Given the description of an element on the screen output the (x, y) to click on. 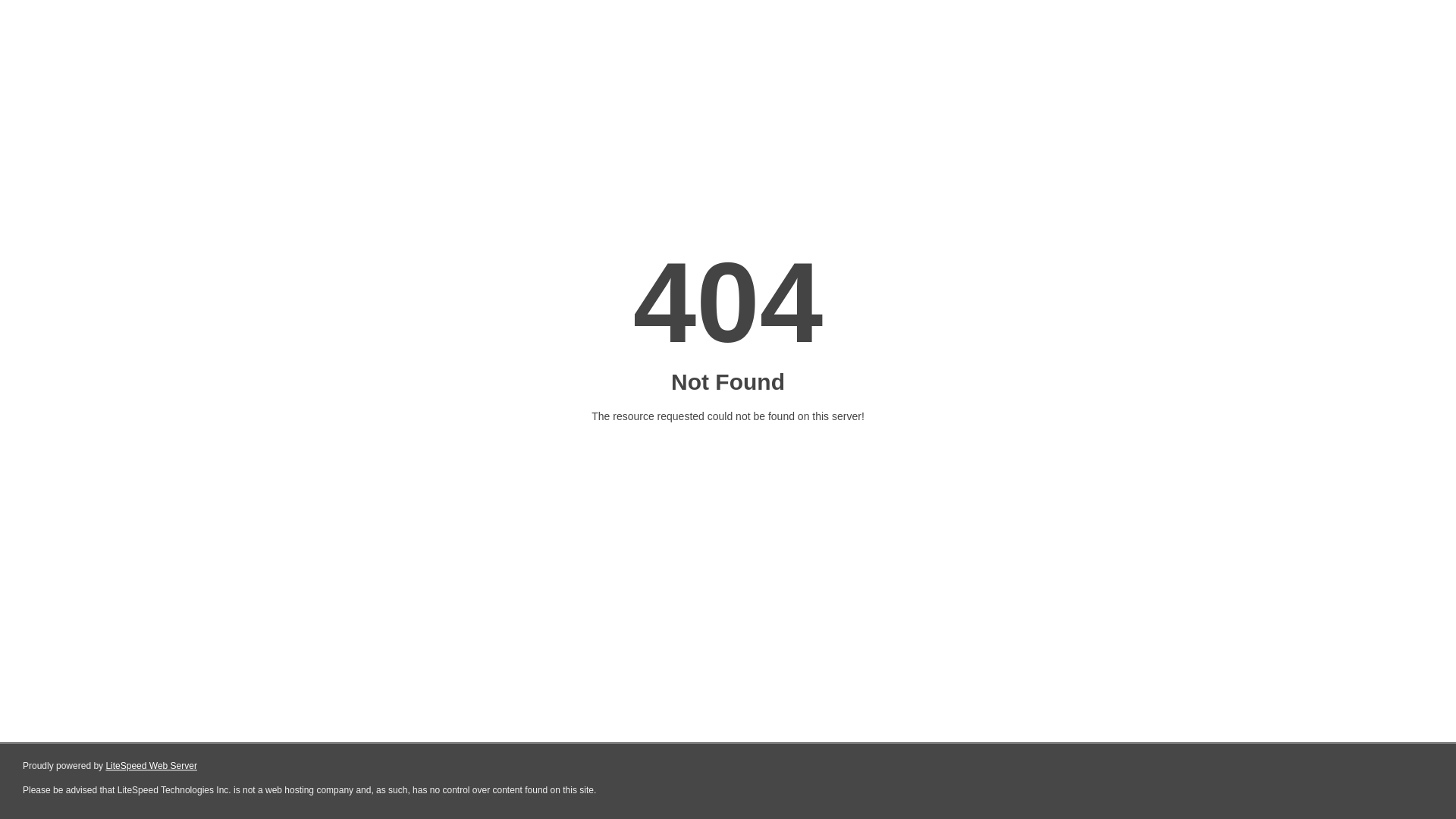
LiteSpeed Web Server Element type: text (151, 765)
